Given the description of an element on the screen output the (x, y) to click on. 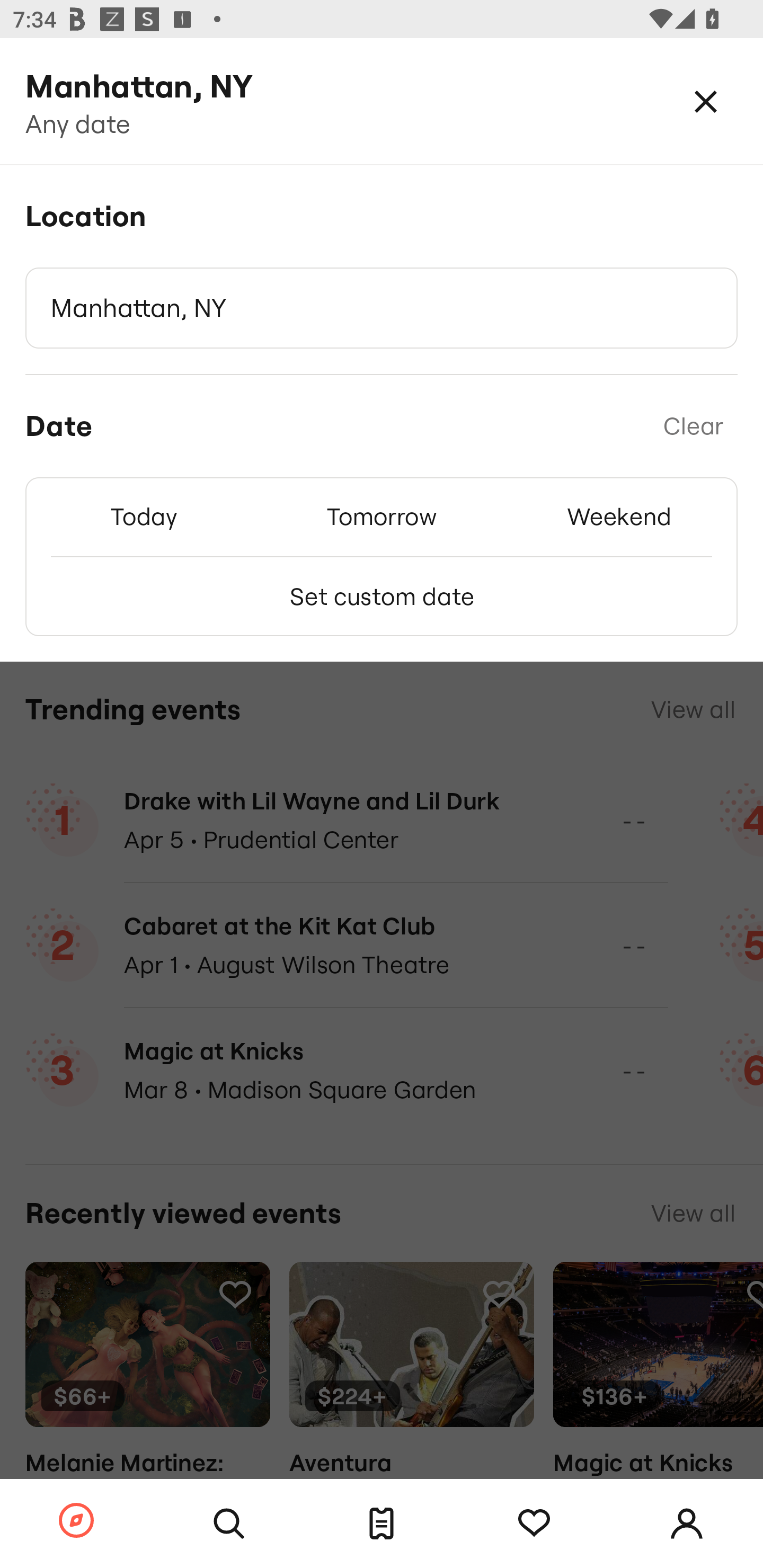
Close (705, 100)
Manhattan, NY (381, 308)
Clear (693, 426)
Today (143, 516)
Tomorrow (381, 516)
Weekend (618, 516)
Set custom date (381, 596)
Browse (76, 1521)
Search (228, 1523)
Tickets (381, 1523)
Tracking (533, 1523)
Account (686, 1523)
